Given the description of an element on the screen output the (x, y) to click on. 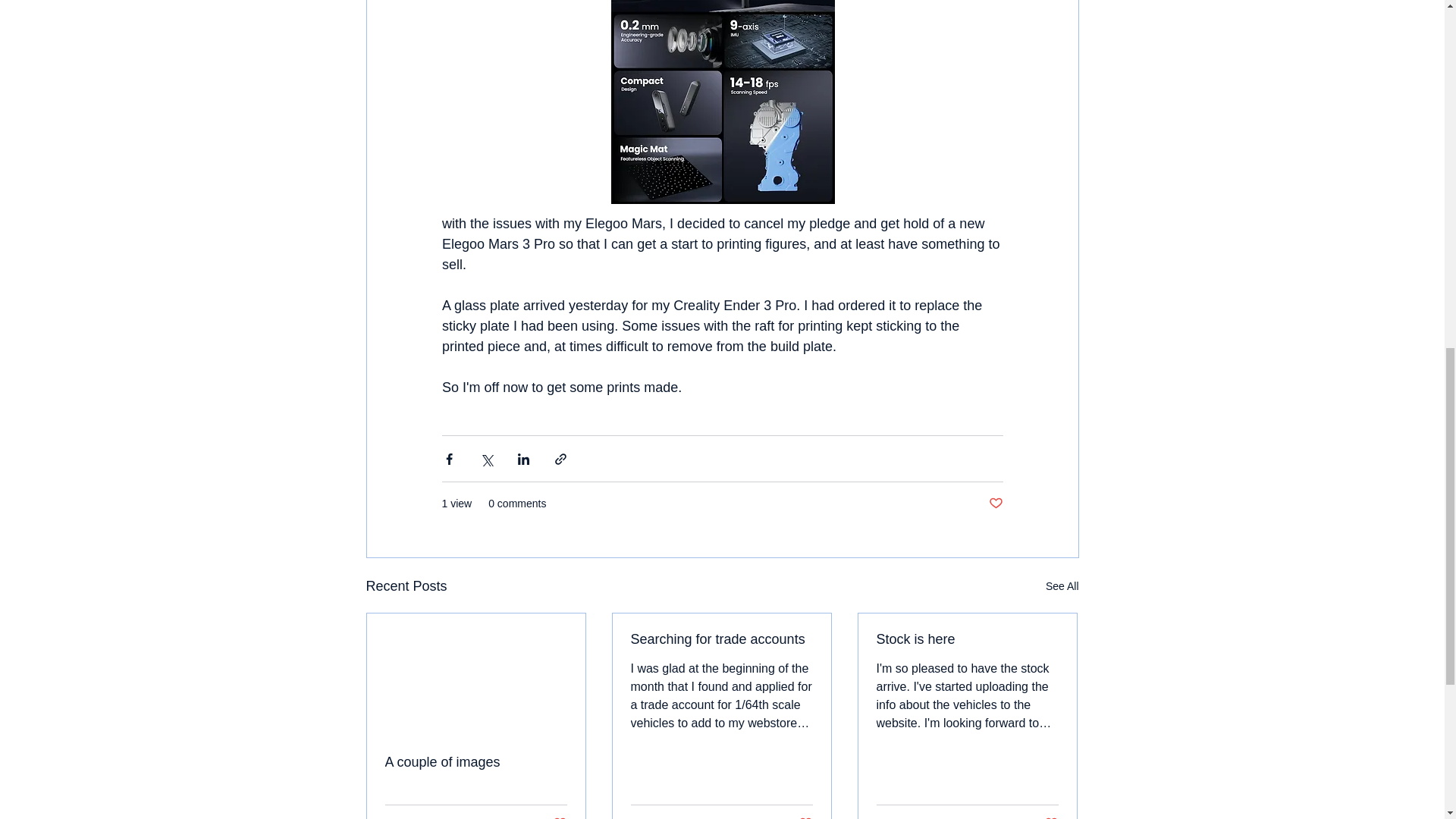
See All (1061, 586)
Post not marked as liked (995, 503)
A couple of images (476, 762)
Stock is here (967, 639)
Searching for trade accounts (721, 639)
0 (681, 817)
Post not marked as liked (804, 817)
Post not marked as liked (1050, 817)
Post not marked as liked (558, 817)
0 (926, 817)
0 (435, 817)
